Given the description of an element on the screen output the (x, y) to click on. 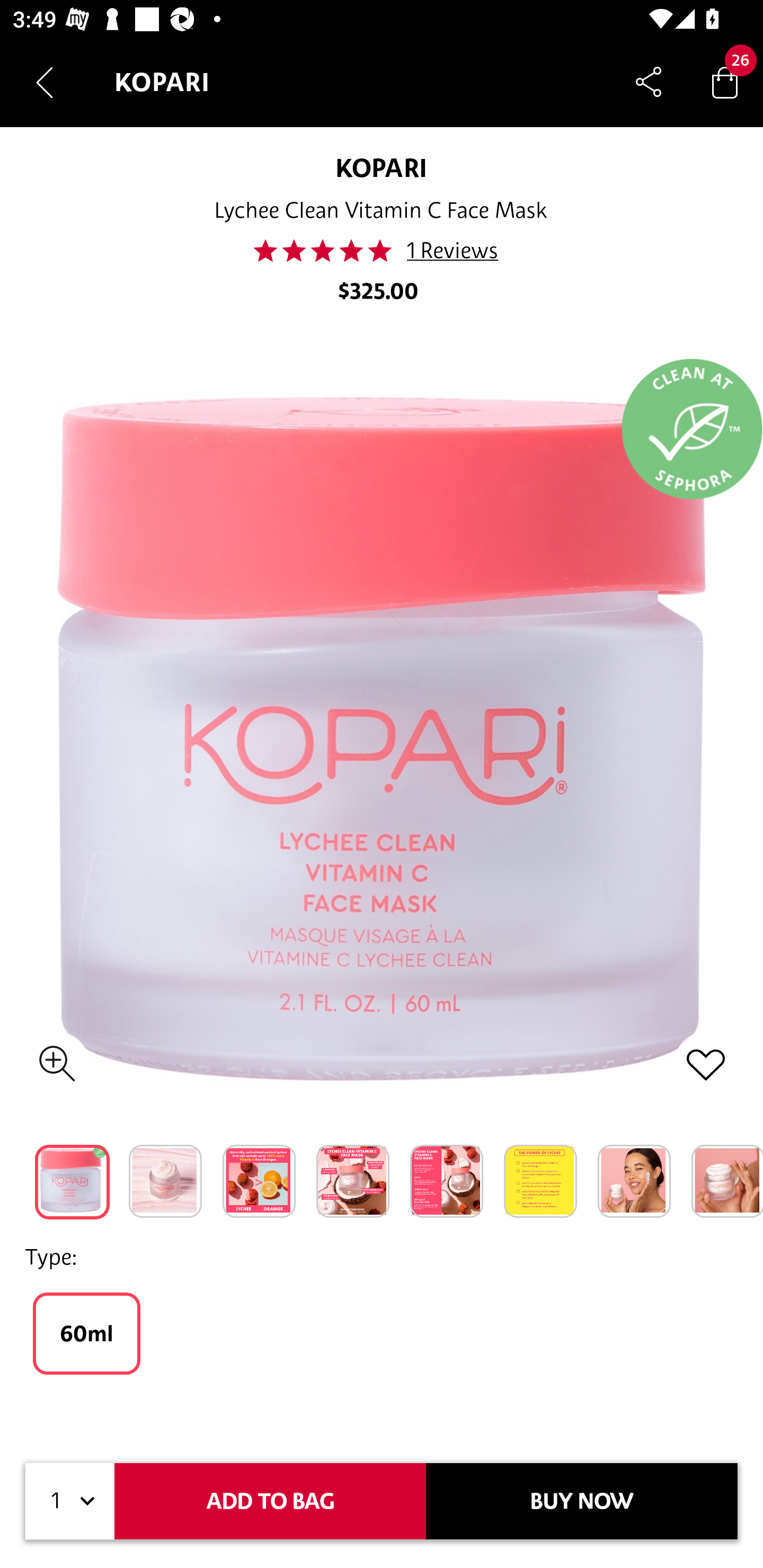
Navigate up (44, 82)
Share (648, 81)
Bag (724, 81)
KOPARI (381, 167)
50.0 1 Reviews (381, 250)
60ml (86, 1333)
1 (69, 1500)
ADD TO BAG (269, 1500)
BUY NOW (581, 1500)
